Given the description of an element on the screen output the (x, y) to click on. 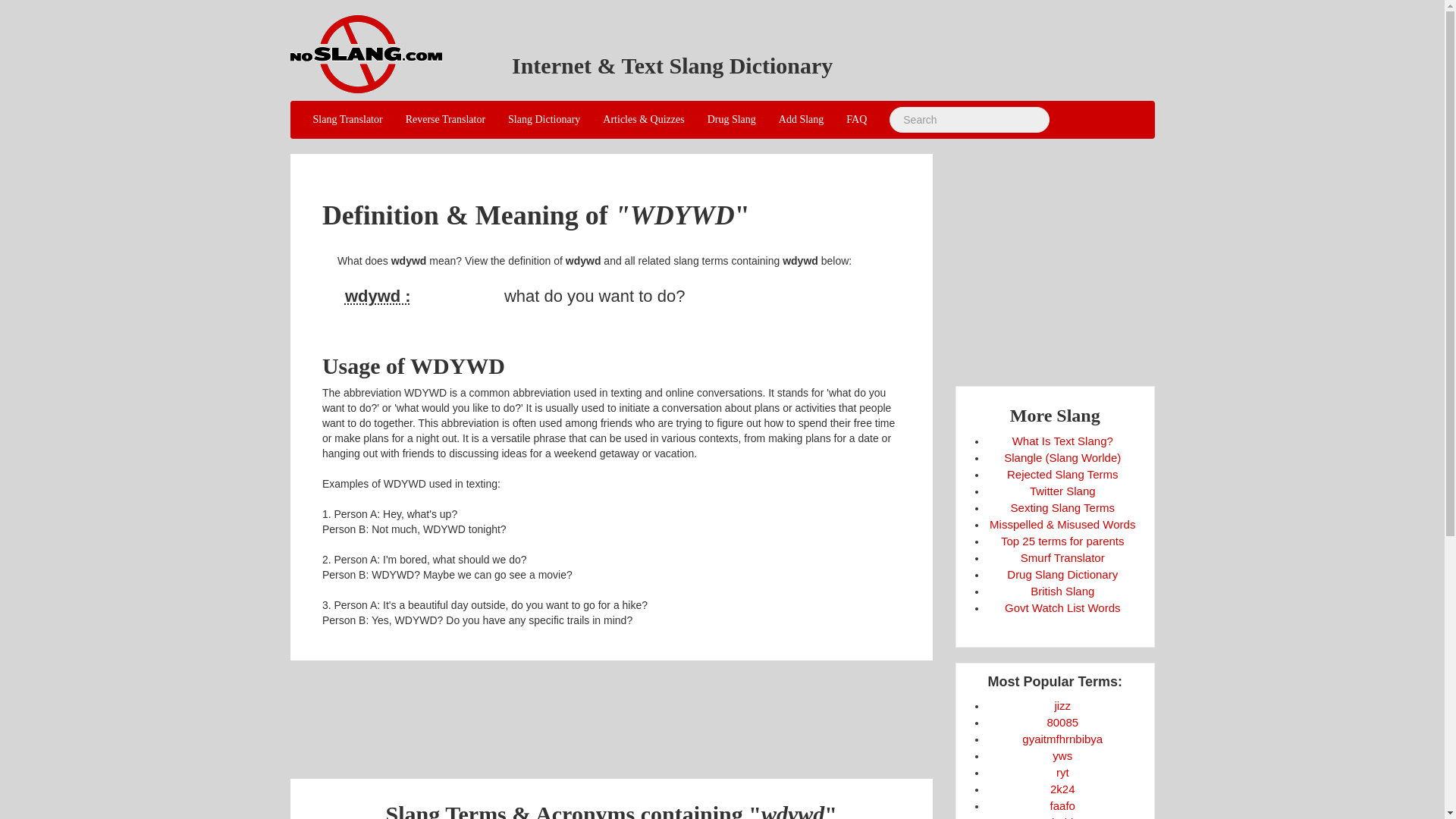
jizz (1062, 705)
faafo (1062, 805)
Advertisement (610, 709)
Sexting Slang Terms (1062, 507)
British Slang (1062, 590)
Advertisement (1082, 259)
Rejected Slang Terms (1062, 473)
babi (1062, 817)
semen (1062, 705)
